Given the description of an element on the screen output the (x, y) to click on. 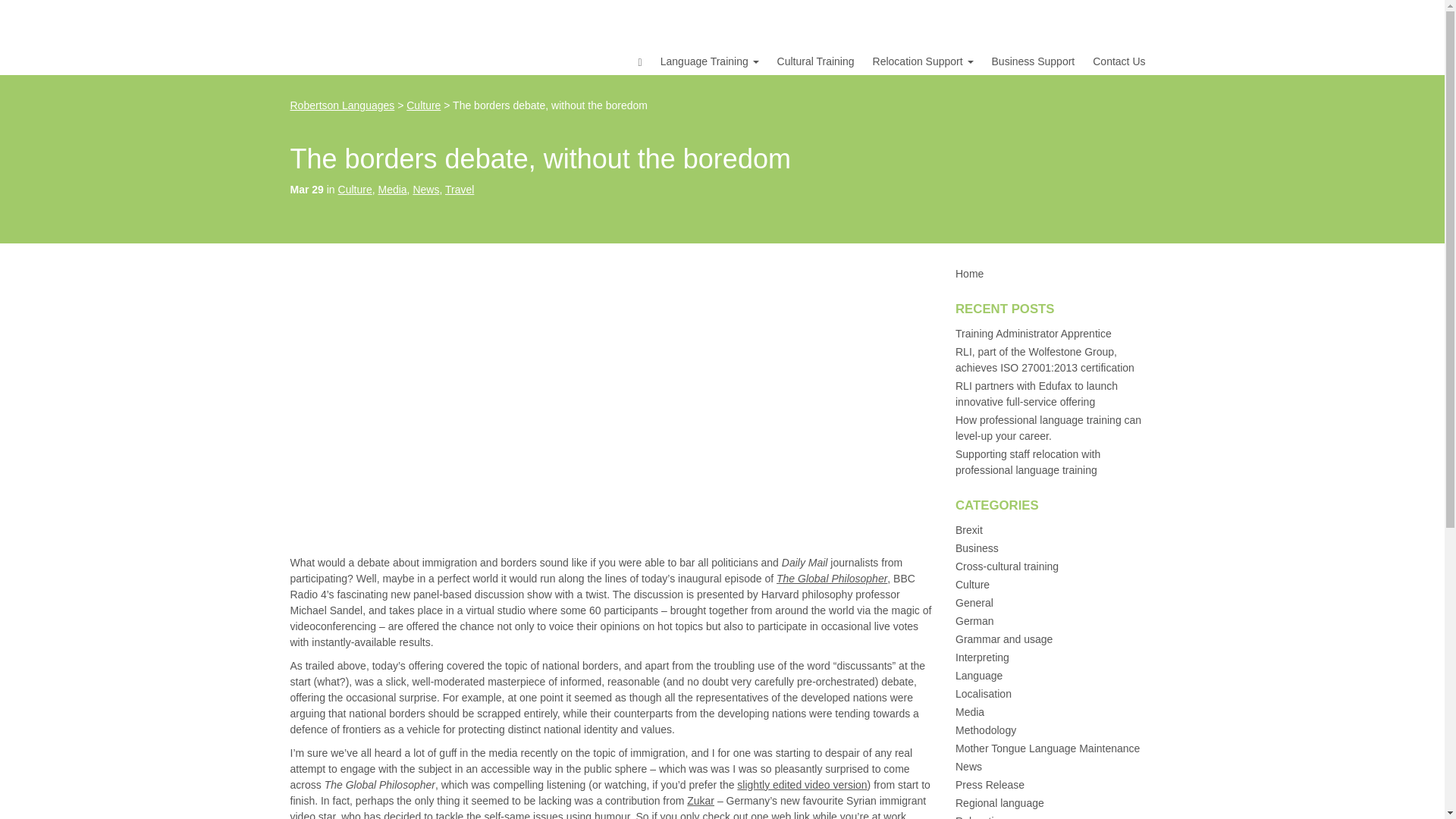
Contact Us (1118, 59)
Business Support (1033, 59)
Travel (459, 189)
Training Administrator Apprentice (1033, 333)
Go to the Culture Category archives. (423, 105)
Culture (354, 189)
The Global Philosopher (831, 578)
News (425, 189)
